Given the description of an element on the screen output the (x, y) to click on. 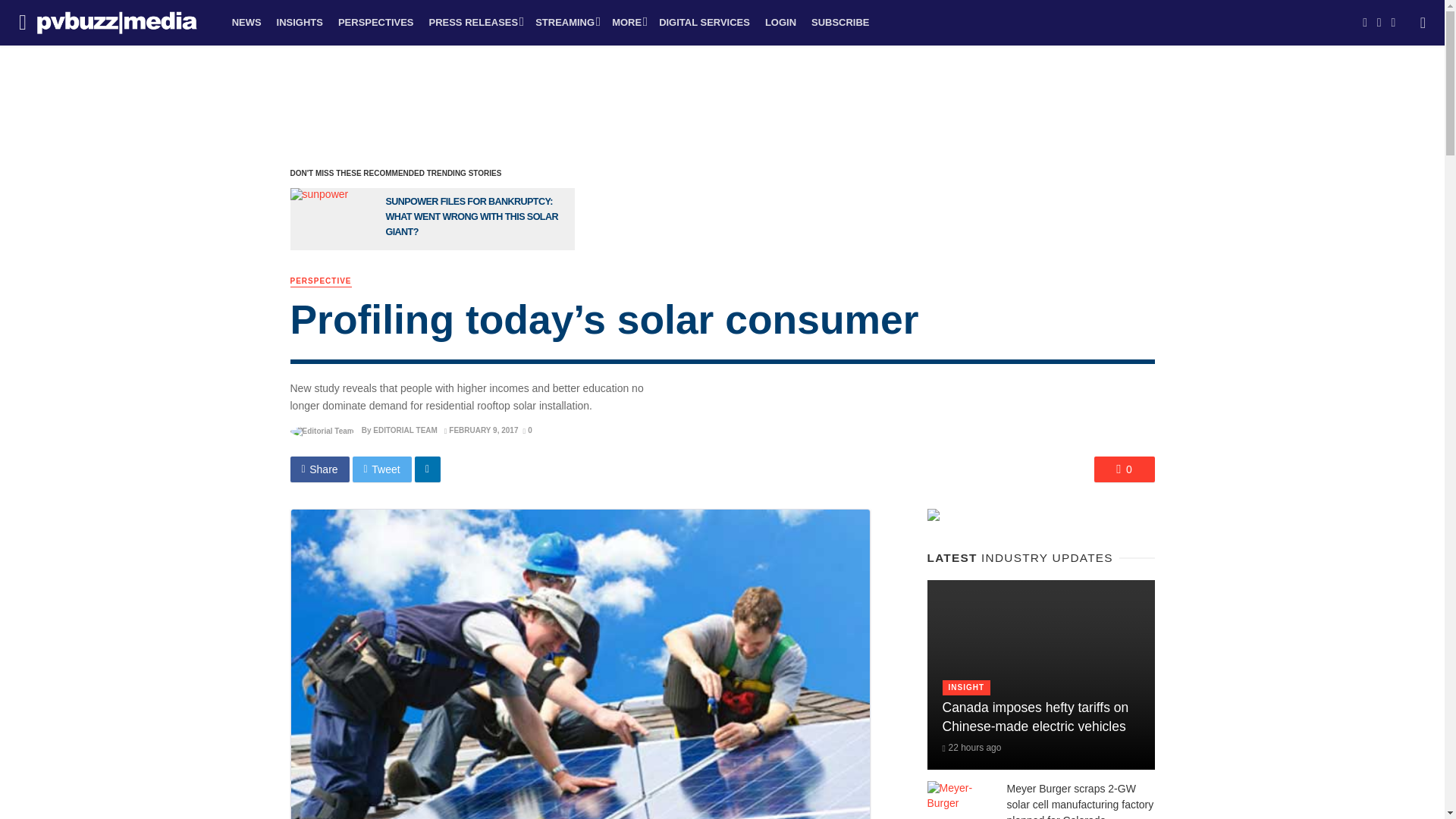
INSIGHTS (299, 22)
PERSPECTIVES (376, 22)
0 Comments (1123, 469)
MORE (627, 22)
SUBSCRIBE (839, 22)
EDITORIAL TEAM (405, 429)
Share (319, 469)
STREAMING (565, 22)
0 Comments (526, 429)
